Given the description of an element on the screen output the (x, y) to click on. 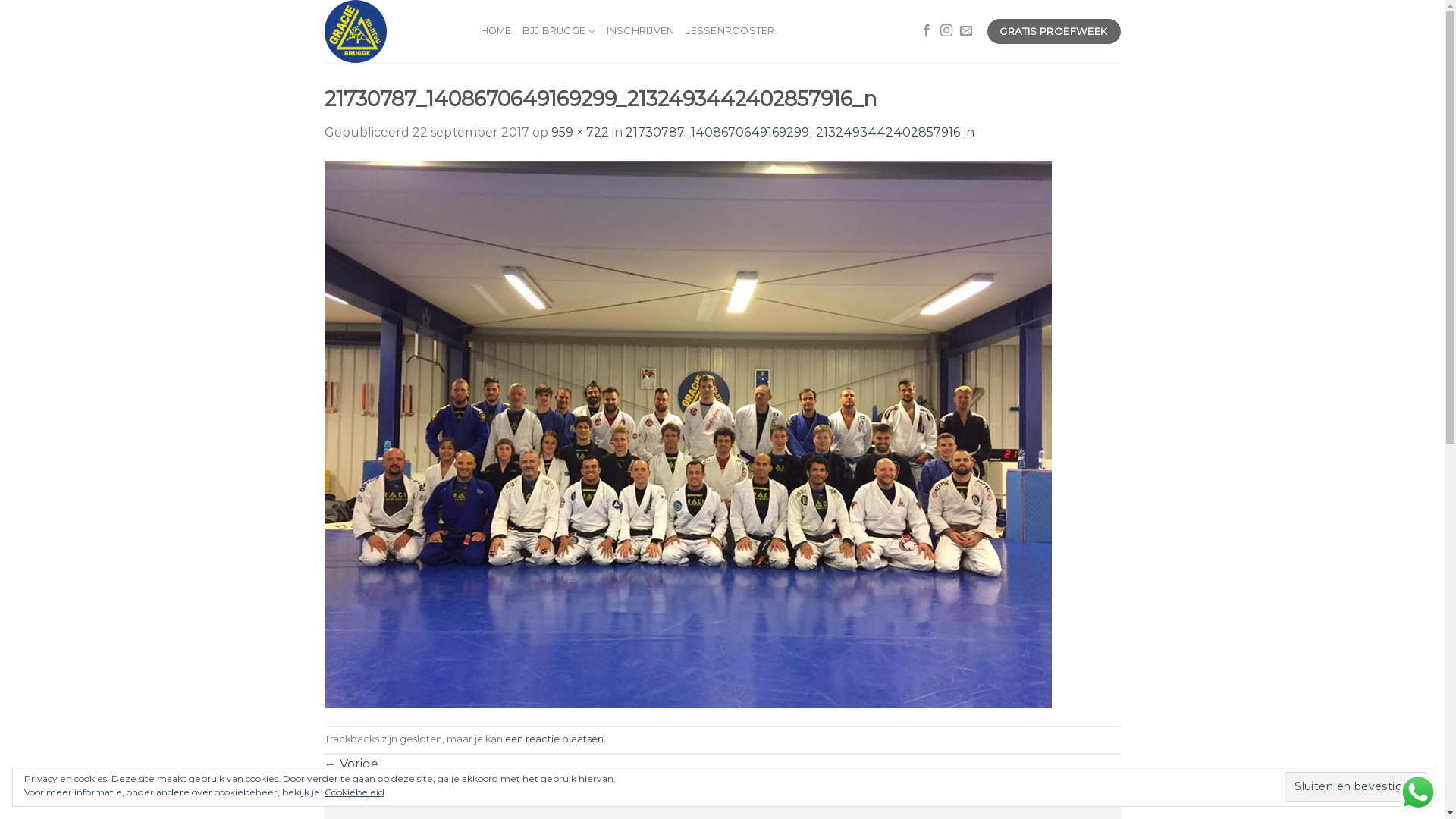
21730787_1408670649169299_2132493442402857916_n Element type: text (798, 132)
INSCHRIJVEN Element type: text (640, 30)
GRATIS PROEFWEEK Element type: text (1053, 31)
21730787_1408670649169299_2132493442402857916_n Element type: hover (687, 433)
een reactie plaatsen Element type: text (554, 738)
BJJ BRUGGE Element type: text (559, 30)
HOME Element type: text (495, 30)
Volg ons op Instagram Element type: hover (946, 30)
BJJ Brugge - Braziliaanse Jiu Jitsu Academy Element type: hover (391, 31)
Cookiebeleid Element type: text (354, 791)
LESSENROOSTER Element type: text (729, 30)
Volg ons op Facebook Element type: hover (926, 30)
Sluiten en bevestigen Element type: text (1355, 786)
WhatsApp us Element type: hover (1418, 792)
Stuur ons een e-mail Element type: hover (966, 30)
